Given the description of an element on the screen output the (x, y) to click on. 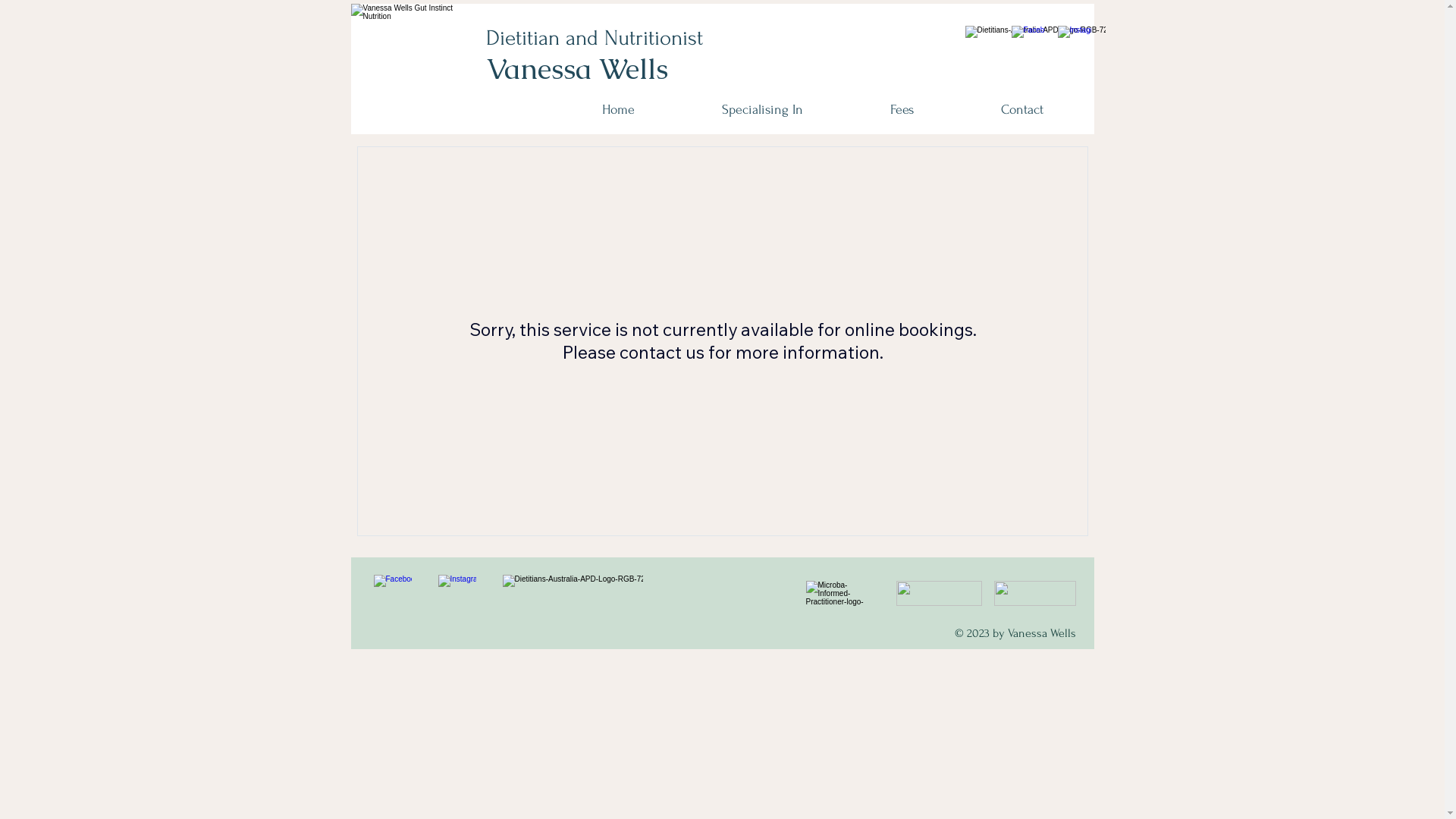
Dietitian and Nutritionist Element type: text (593, 37)
Monash_University_logo.svg.png Element type: hover (1034, 592)
Flinders_University_Logo_Horizontal_RGB_Master.png Element type: hover (939, 592)
Flinders_University_Logo_Horizontal_RGB_Master.png Element type: hover (841, 592)
Contact Element type: text (1021, 109)
Fees Element type: text (901, 109)
Specialising In Element type: text (761, 109)
Bookings Checkout Element type: hover (721, 348)
Vanessa Wells Element type: text (576, 68)
Home Element type: text (617, 109)
